Given the description of an element on the screen output the (x, y) to click on. 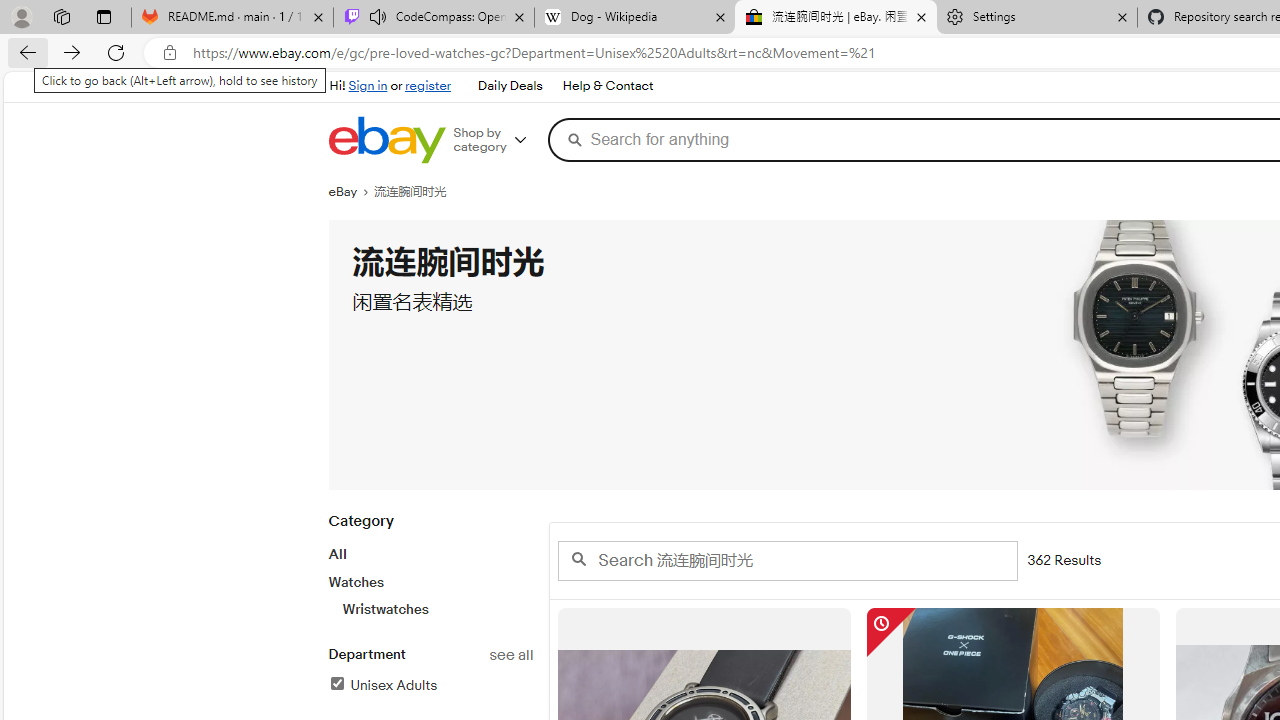
Enter your search keyword (786, 560)
eBay Home (386, 139)
Unisex AdultsFilter Applied (430, 686)
Help & Contact (606, 85)
